Given the description of an element on the screen output the (x, y) to click on. 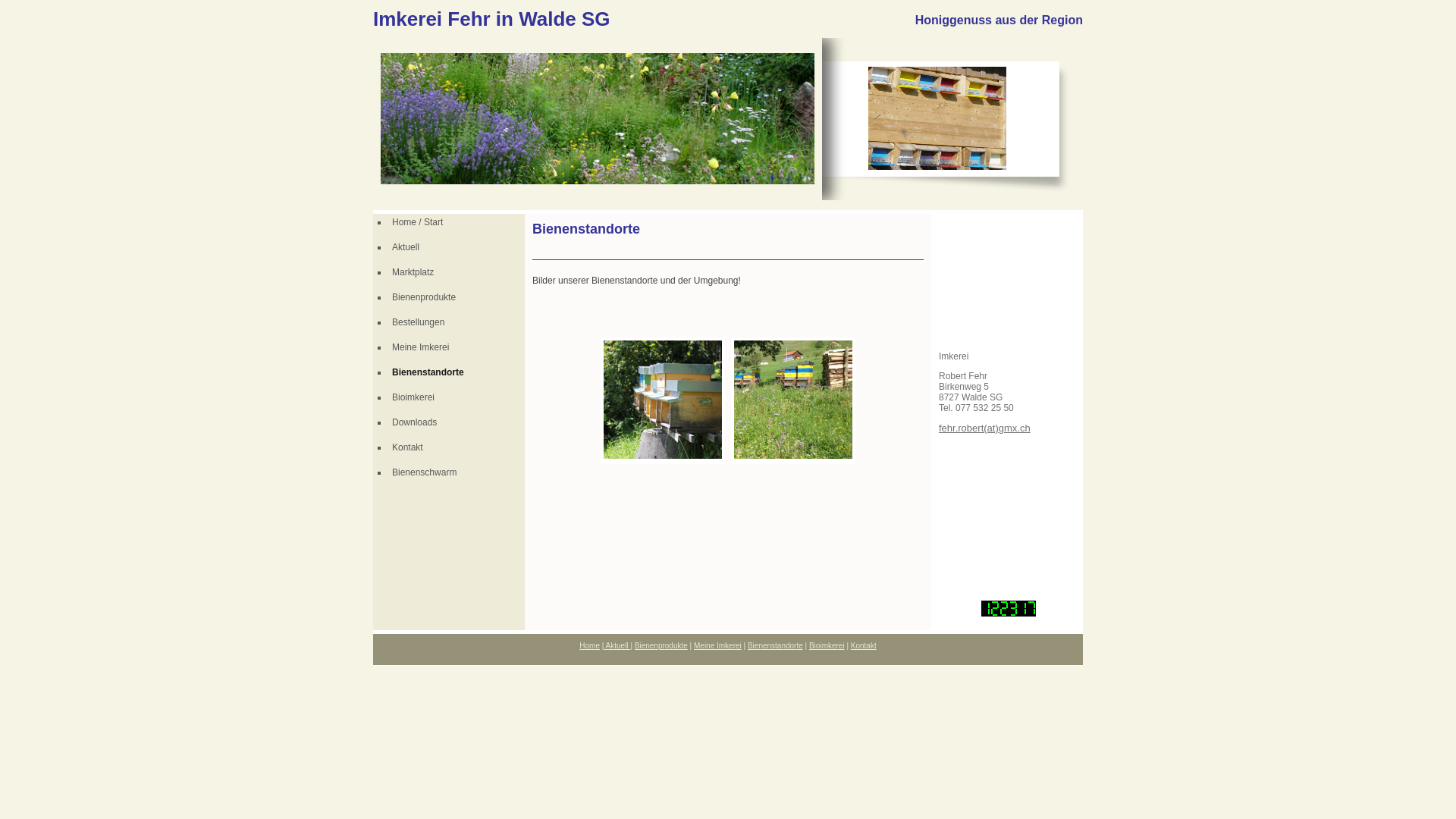
Home / Start Element type: text (456, 222)
Bioimkerei Element type: text (826, 645)
Home Element type: text (589, 645)
Aktuell Element type: text (616, 645)
Kontakt Element type: text (456, 447)
Aktuell Element type: text (456, 247)
Bienenprodukte Element type: text (456, 297)
Bienenstandorte Element type: text (775, 645)
Bestellungen Element type: text (456, 322)
Kontakt Element type: text (863, 645)
fehr.robert(at)gmx.ch Element type: text (984, 428)
Bioimkerei Element type: text (456, 397)
Meine Imkerei Element type: text (456, 347)
Marktplatz Element type: text (456, 272)
Bienenprodukte Element type: text (660, 645)
Meine Imkerei Element type: text (717, 645)
Bienenstandorte Element type: text (456, 372)
Downloads Element type: text (456, 422)
Bienenschwarm Element type: text (456, 472)
